Given the description of an element on the screen output the (x, y) to click on. 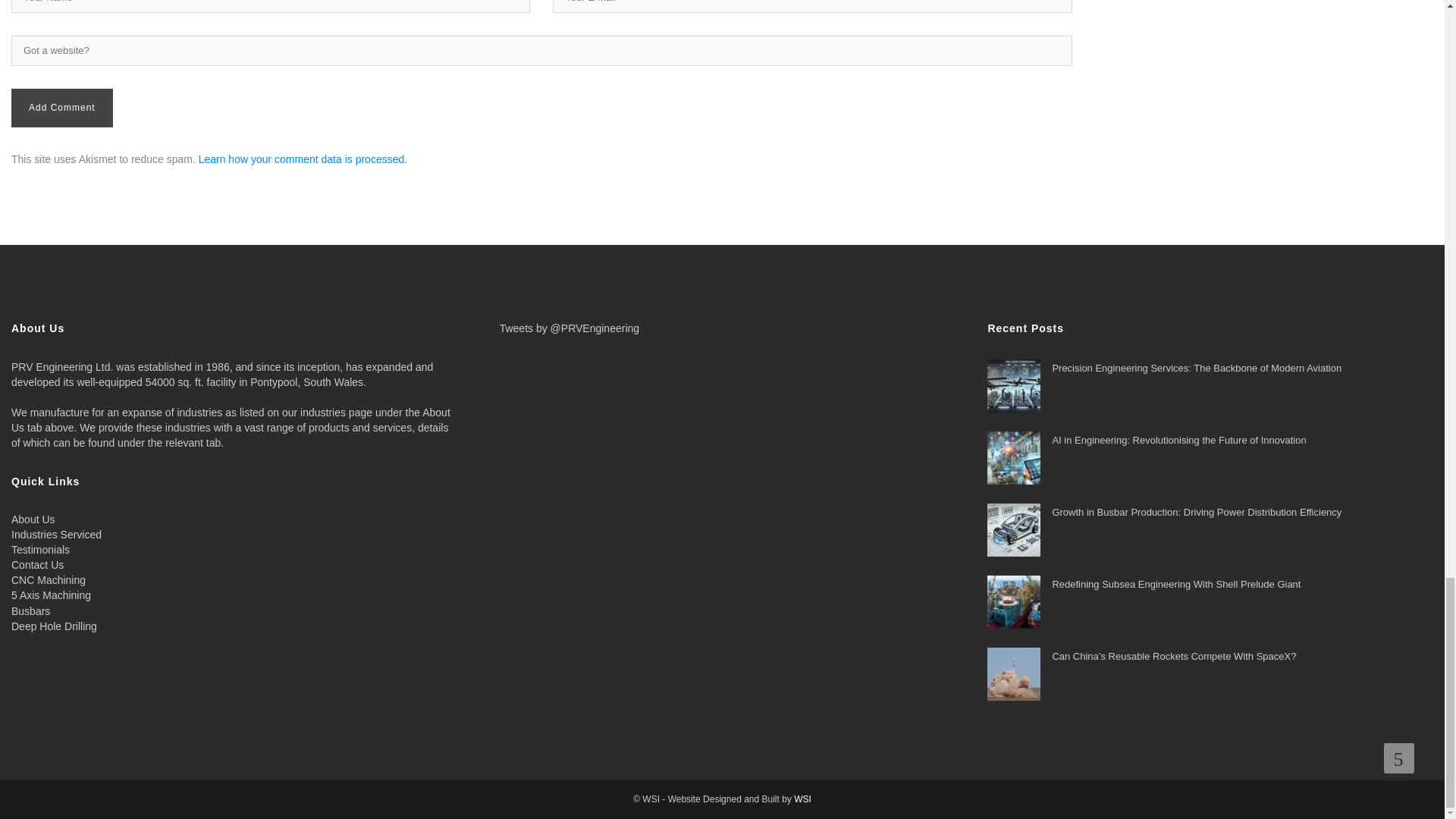
Add Comment (62, 107)
Learn how your comment data is processed (301, 159)
Add Comment (62, 107)
